Given the description of an element on the screen output the (x, y) to click on. 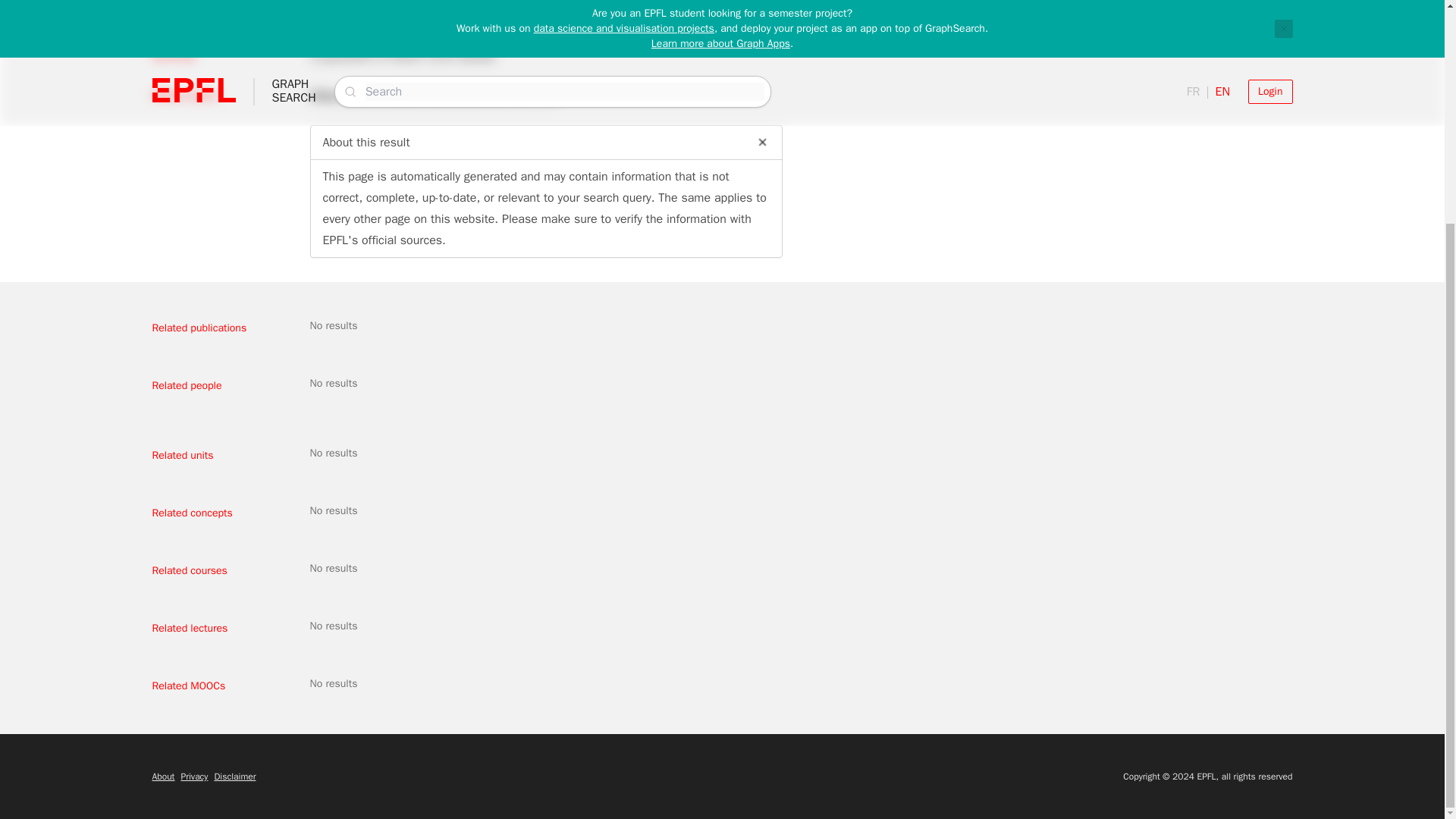
About (162, 776)
Disclaimer (235, 776)
Privacy (194, 776)
